Given the description of an element on the screen output the (x, y) to click on. 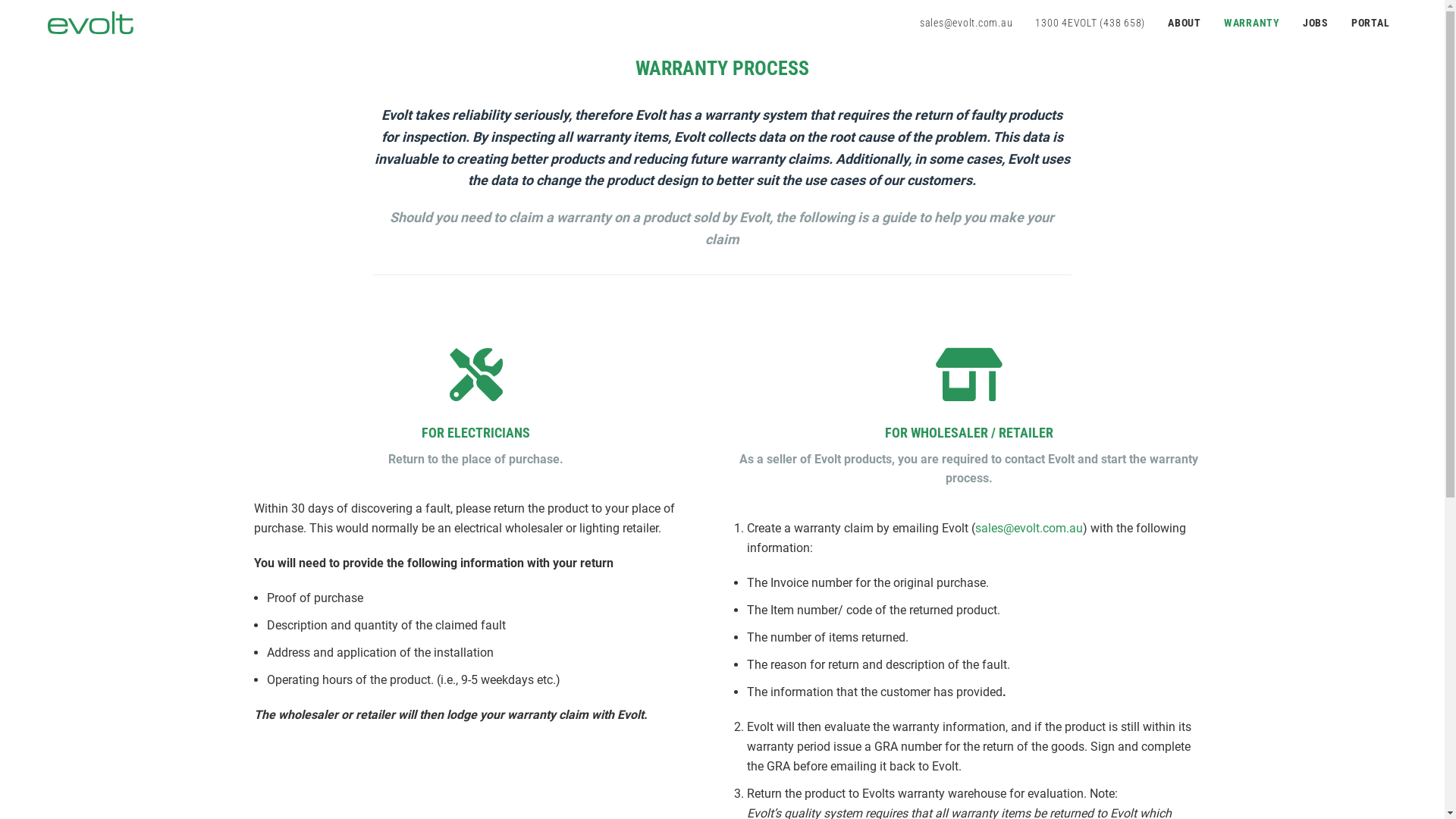
ABOUT Element type: text (1187, 22)
sales@evolt.com.au Element type: text (1028, 527)
T & C's Element type: text (893, 797)
sales@evolt.com.au Element type: text (969, 22)
PORTAL Element type: text (1374, 22)
1300 4EVOLT (438 658) Element type: text (1093, 22)
WARRANTY Element type: text (1255, 22)
JOBS Element type: text (1319, 22)
